Given the description of an element on the screen output the (x, y) to click on. 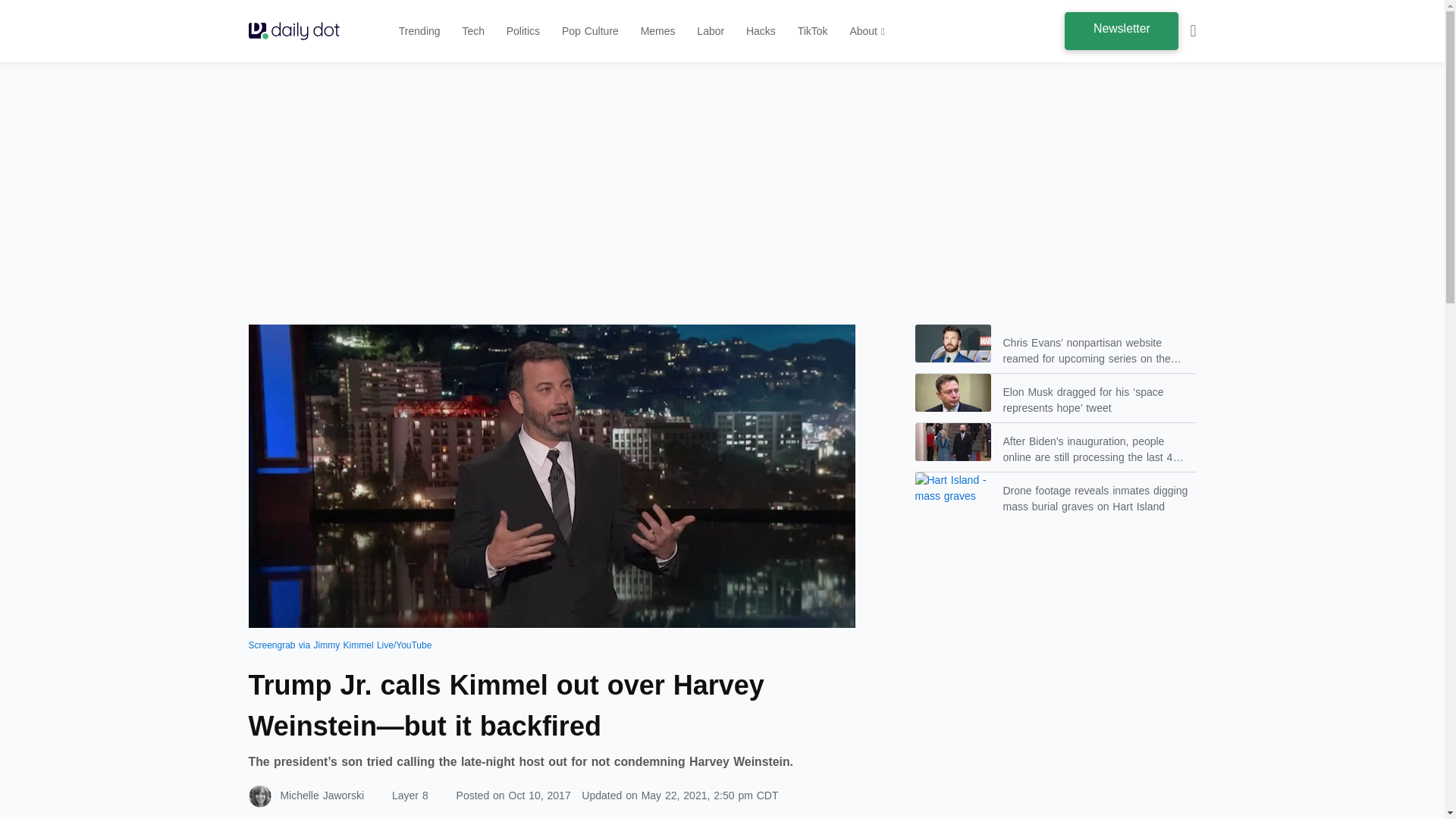
Pop Culture (590, 30)
TikTok (812, 30)
Newsletter (1120, 30)
Hacks (760, 30)
Politics (523, 30)
About (865, 30)
Tech (472, 30)
Memes (657, 30)
Trending (419, 30)
Labor (710, 30)
